Given the description of an element on the screen output the (x, y) to click on. 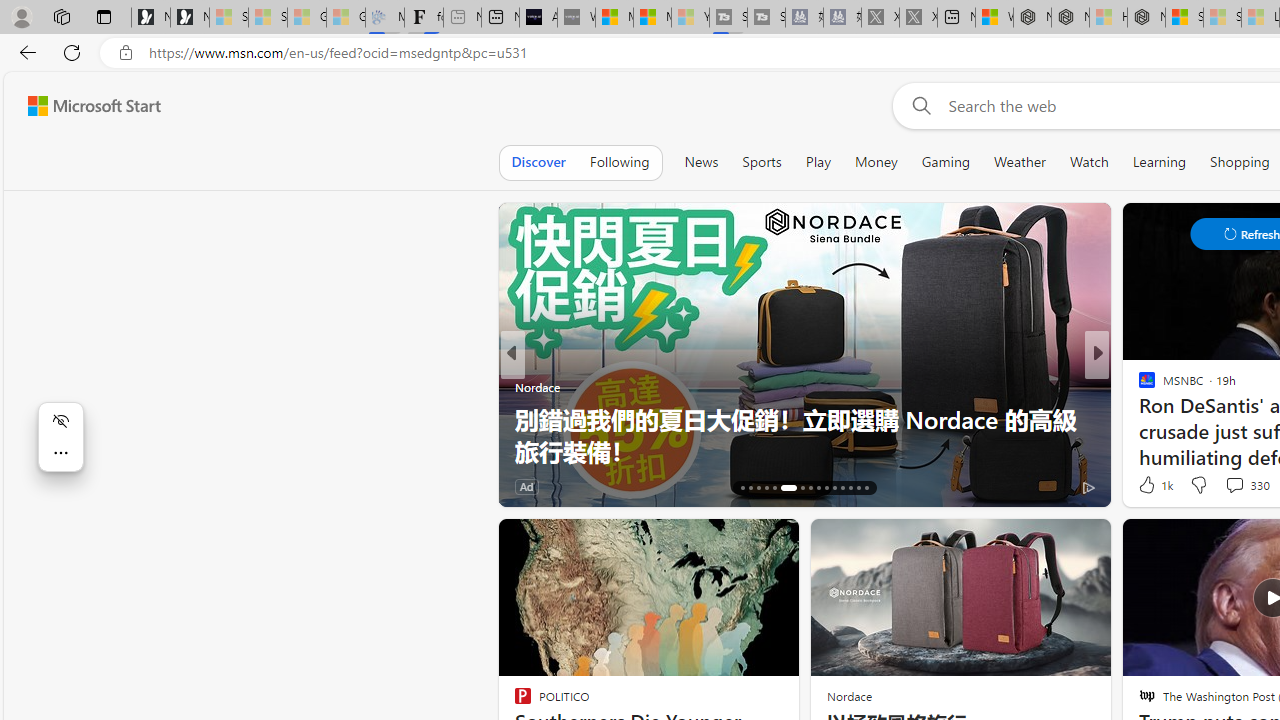
AutomationID: tab-28 (850, 487)
Planning to Organize (1138, 386)
View comments 330 Comment (1246, 484)
View comments 55 Comment (1229, 485)
